Given the description of an element on the screen output the (x, y) to click on. 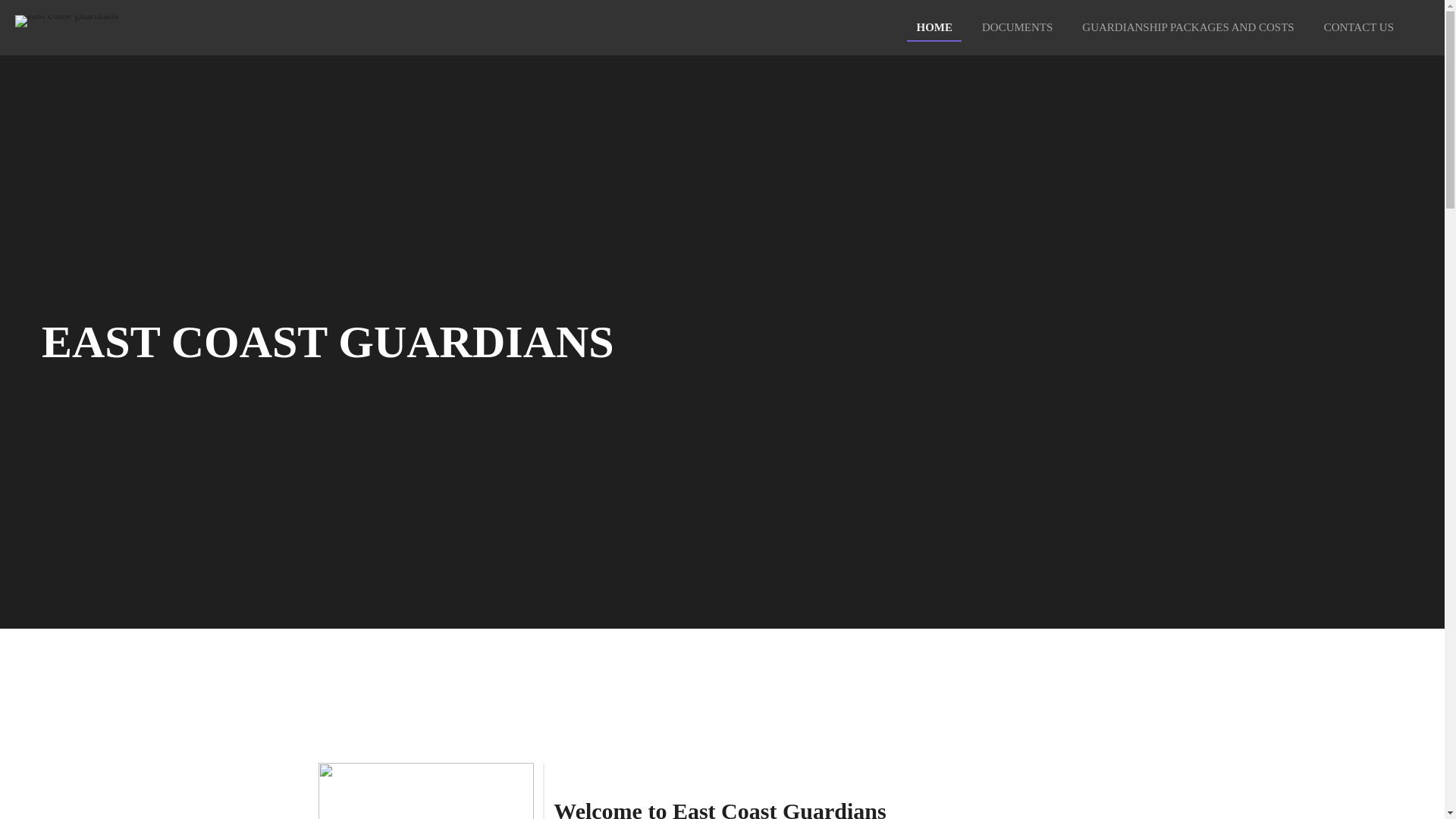
CONTACT US (1358, 27)
HOME (933, 27)
DOCUMENTS (1016, 27)
east coast guardians (65, 27)
GUARDIANSHIP PACKAGES AND COSTS (1188, 27)
